Given the description of an element on the screen output the (x, y) to click on. 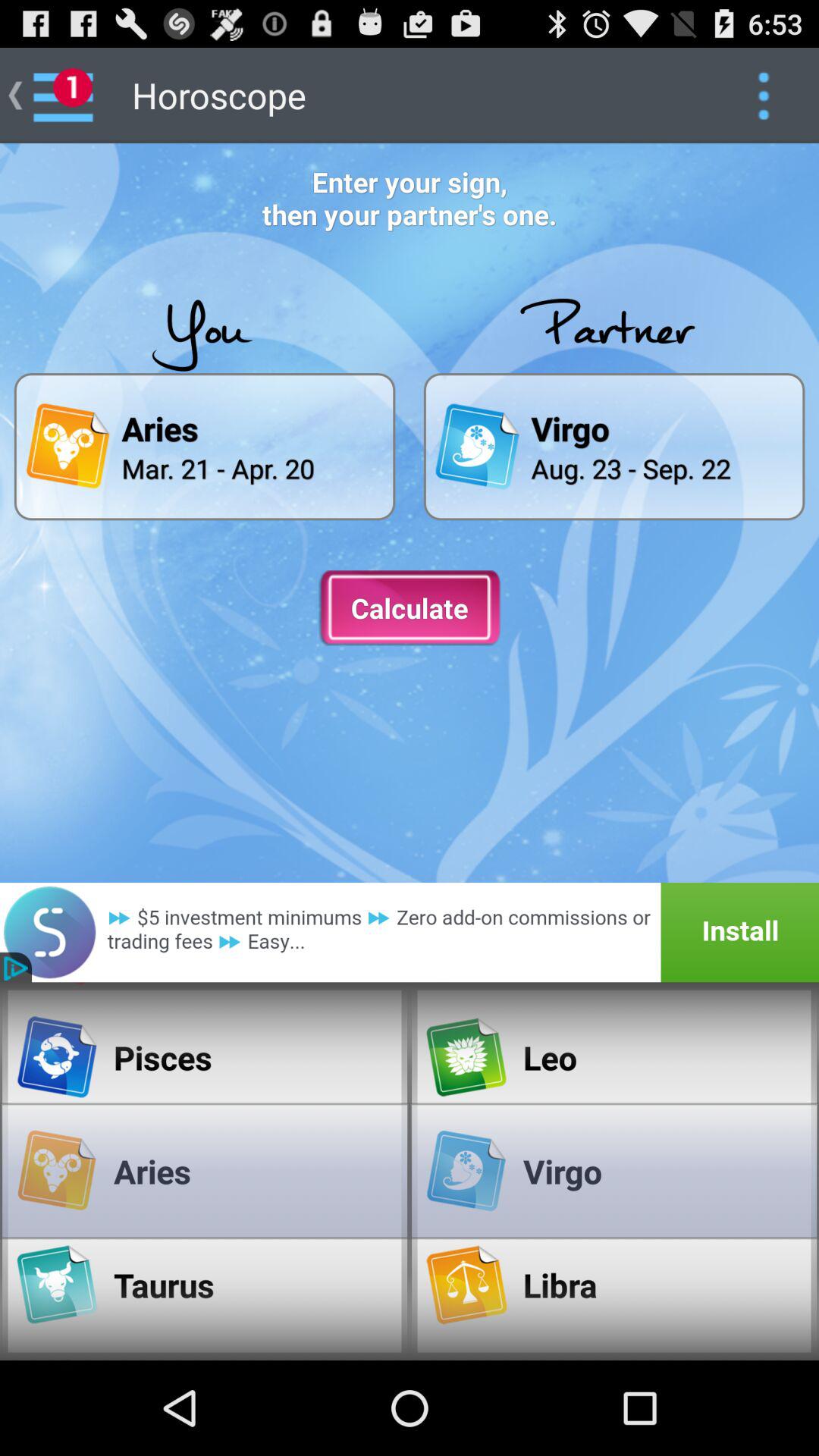
toggle menu option (763, 95)
